Given the description of an element on the screen output the (x, y) to click on. 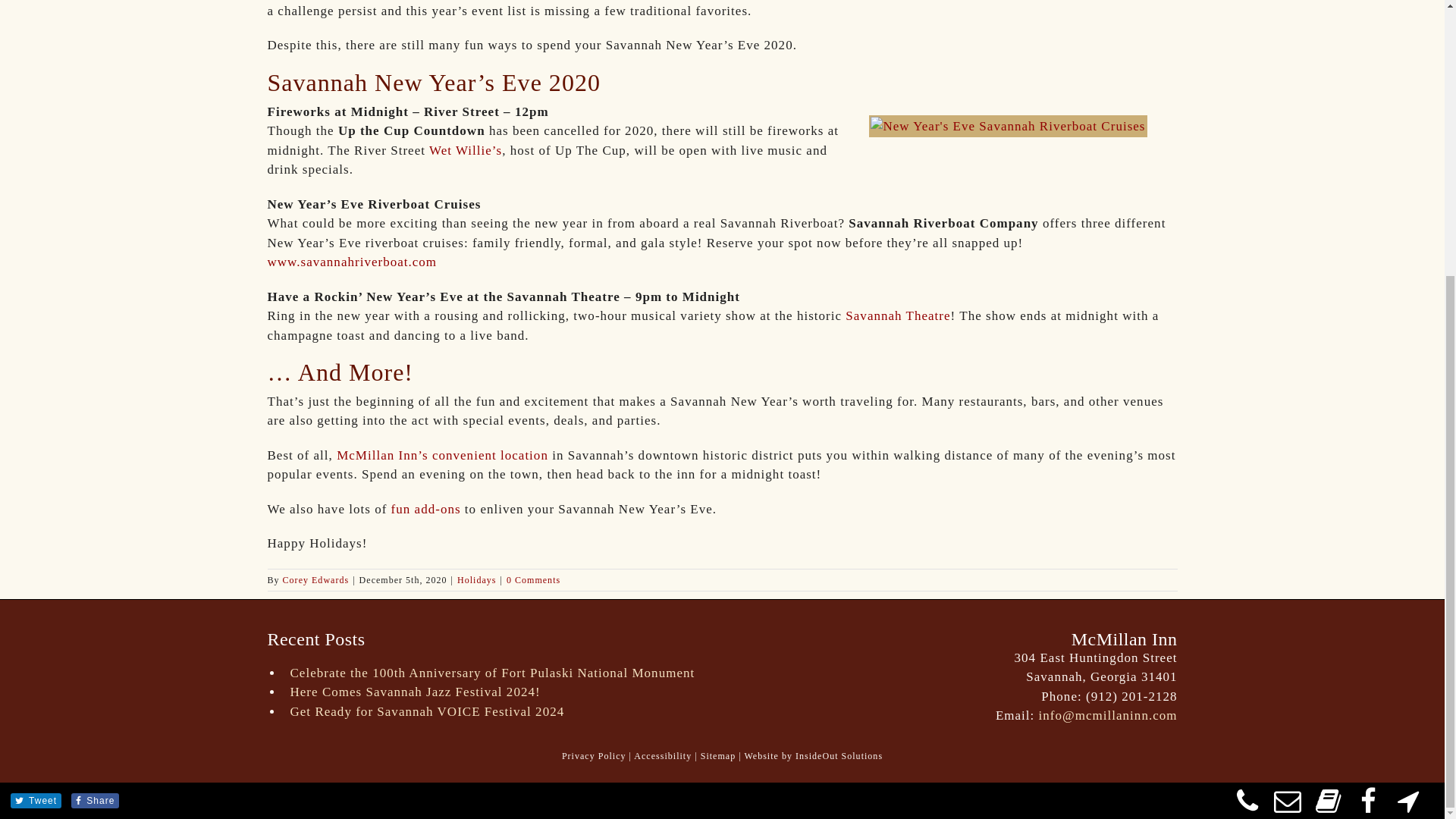
0 Comments (533, 579)
Corey Edwards (315, 579)
Here Comes Savannah Jazz Festival 2024! (499, 691)
Posts by Corey Edwards (315, 579)
fun add-ons (426, 509)
www.savannahriverboat.com (351, 261)
Savannah Theatre (897, 315)
Get Ready for Savannah VOICE Festival 2024 (499, 711)
Holidays (476, 579)
